Given the description of an element on the screen output the (x, y) to click on. 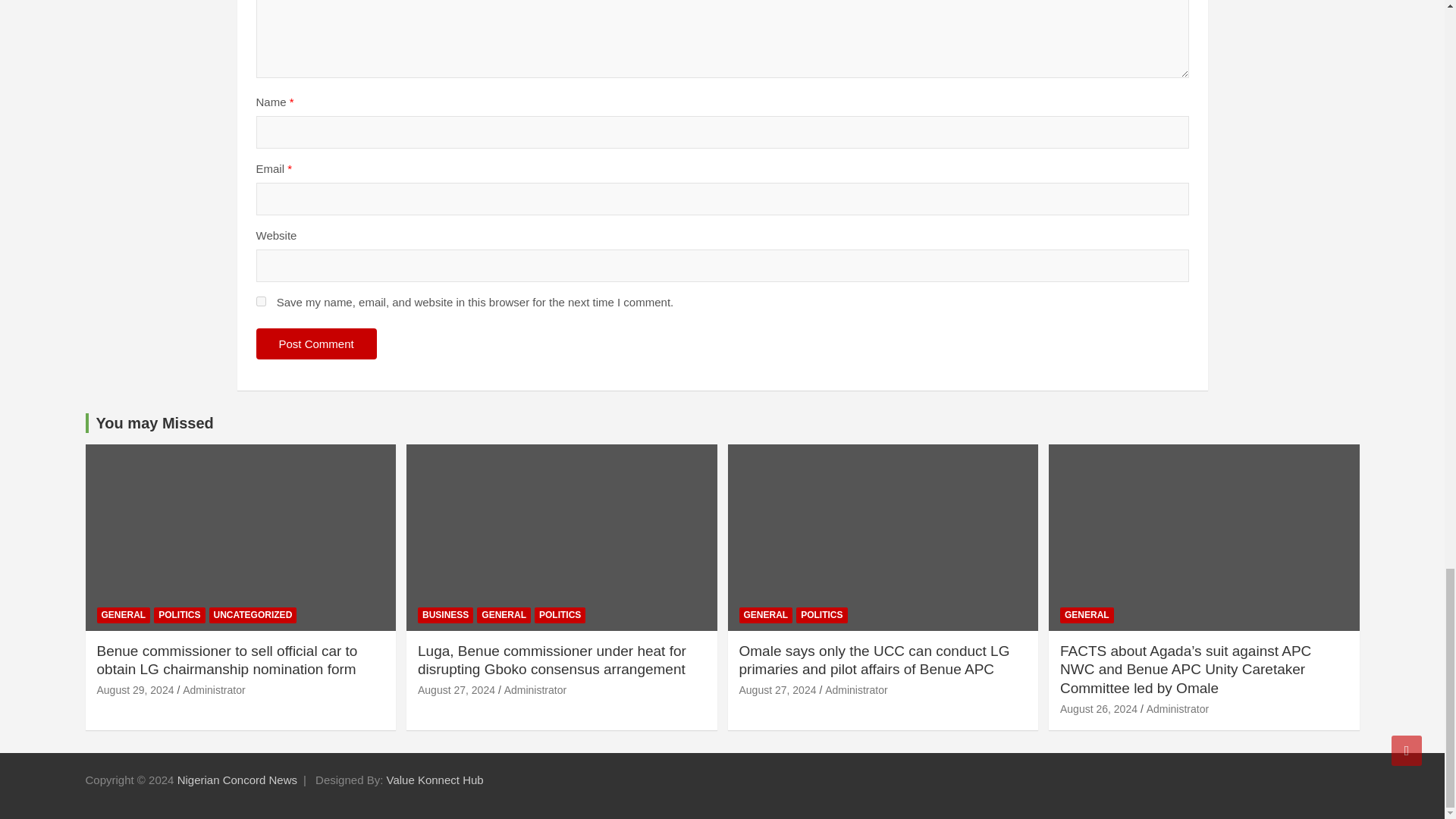
August 29, 2024 (135, 689)
Nigerian Concord News (237, 779)
BUSINESS (445, 615)
Post Comment (316, 343)
yes (261, 301)
GENERAL (124, 615)
You may Missed (154, 422)
